Given the description of an element on the screen output the (x, y) to click on. 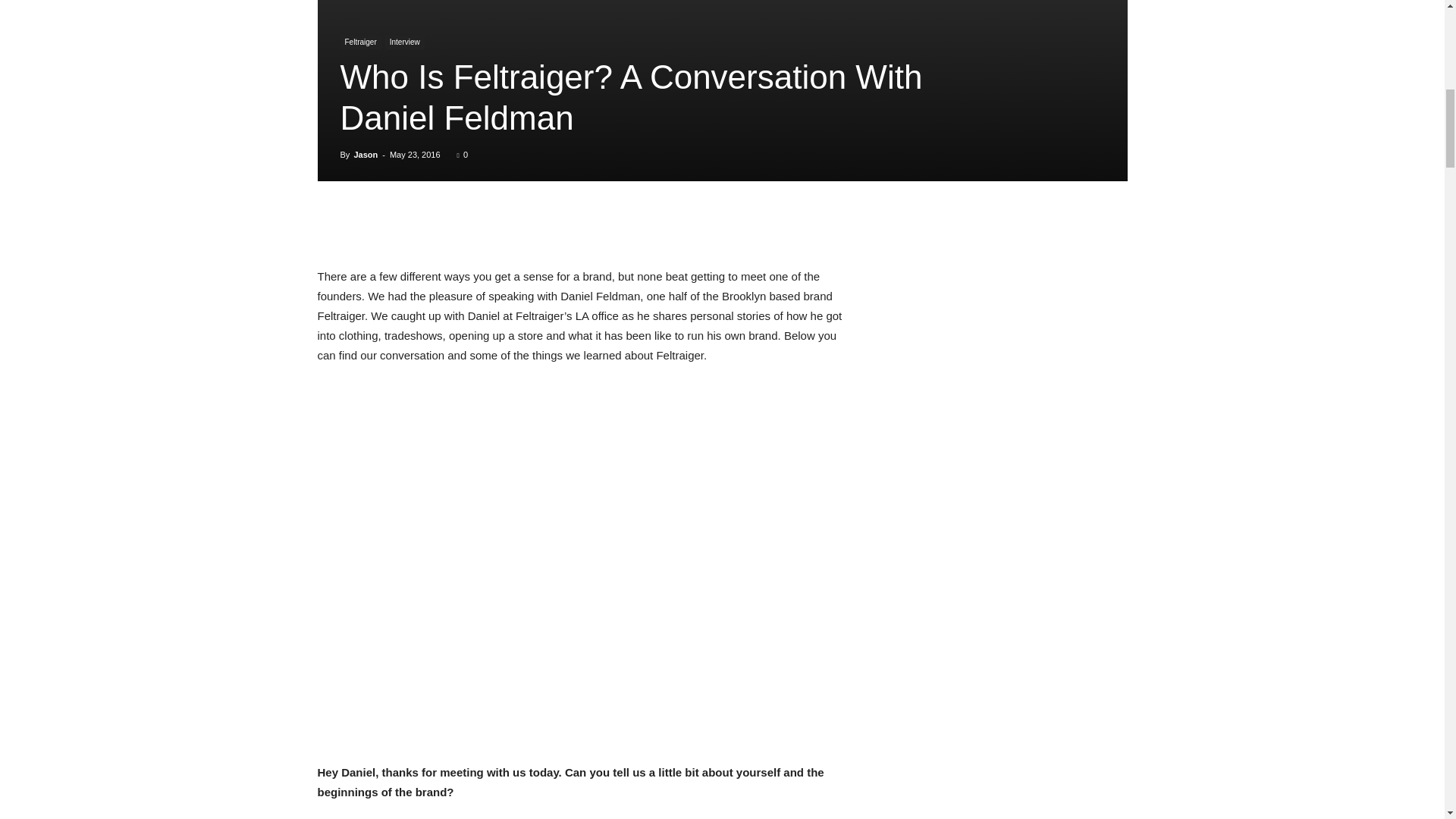
Jason (365, 153)
Feltraiger (359, 42)
0 (462, 153)
Interview (405, 42)
